Given the description of an element on the screen output the (x, y) to click on. 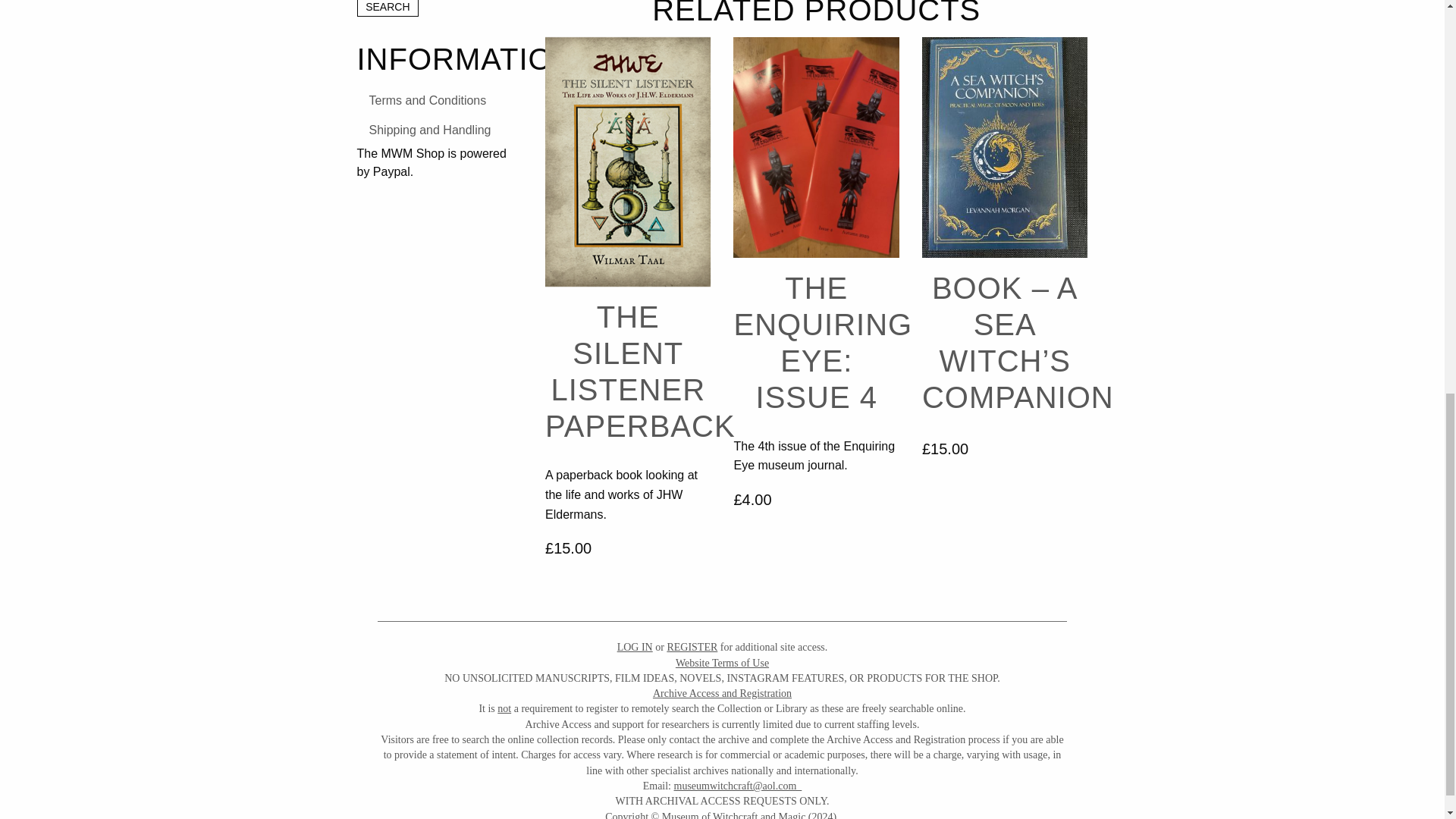
Search (387, 8)
